Given the description of an element on the screen output the (x, y) to click on. 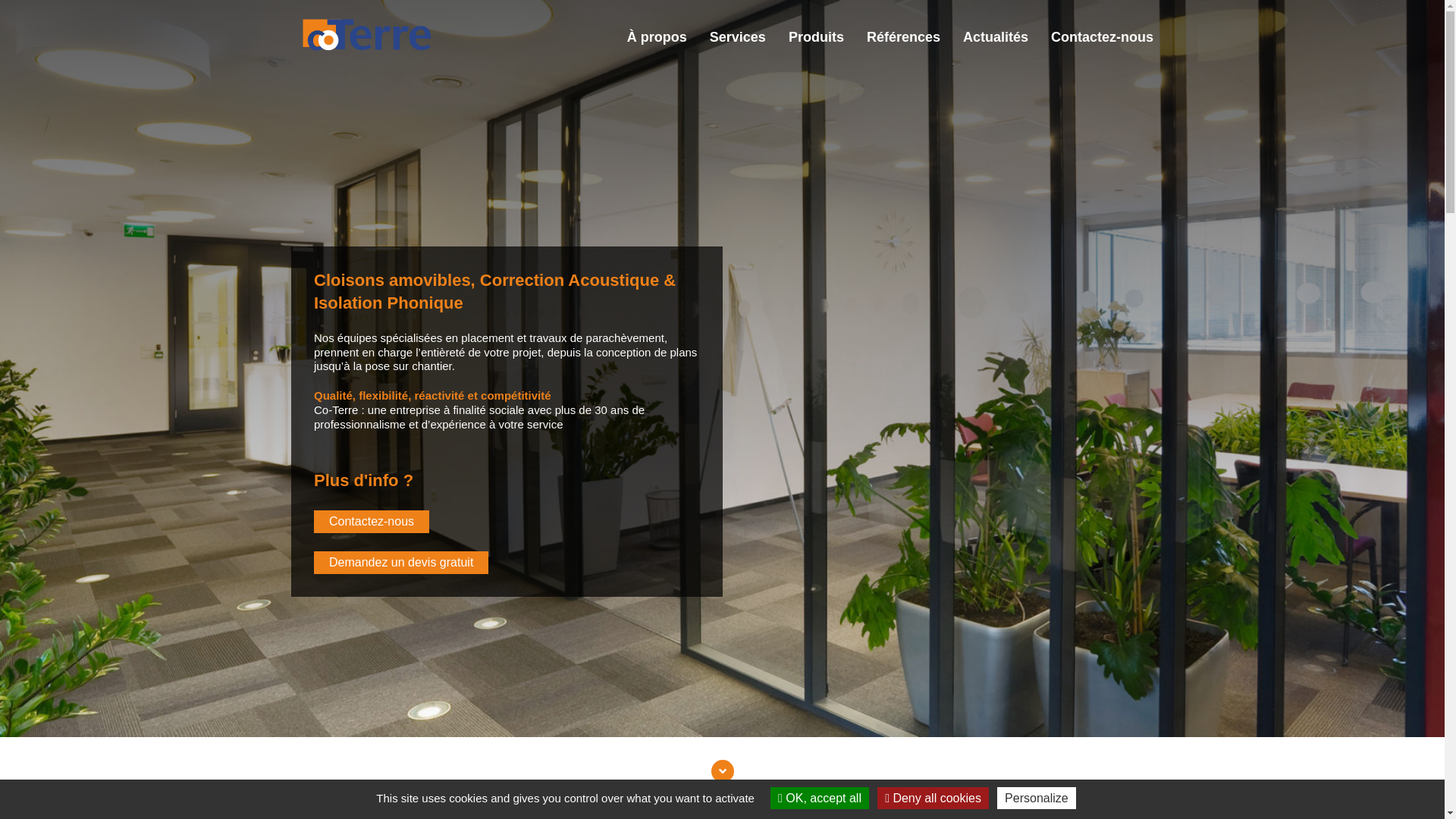
Demandez un devis gratuit Element type: text (400, 562)
Contactez-nous Element type: text (1102, 36)
OK, accept all Element type: text (819, 798)
Personalize Element type: text (1036, 798)
Deny all cookies Element type: text (932, 798)
Produits Element type: text (816, 36)
Contactez-nous Element type: text (371, 521)
Services Element type: text (737, 36)
